Given the description of an element on the screen output the (x, y) to click on. 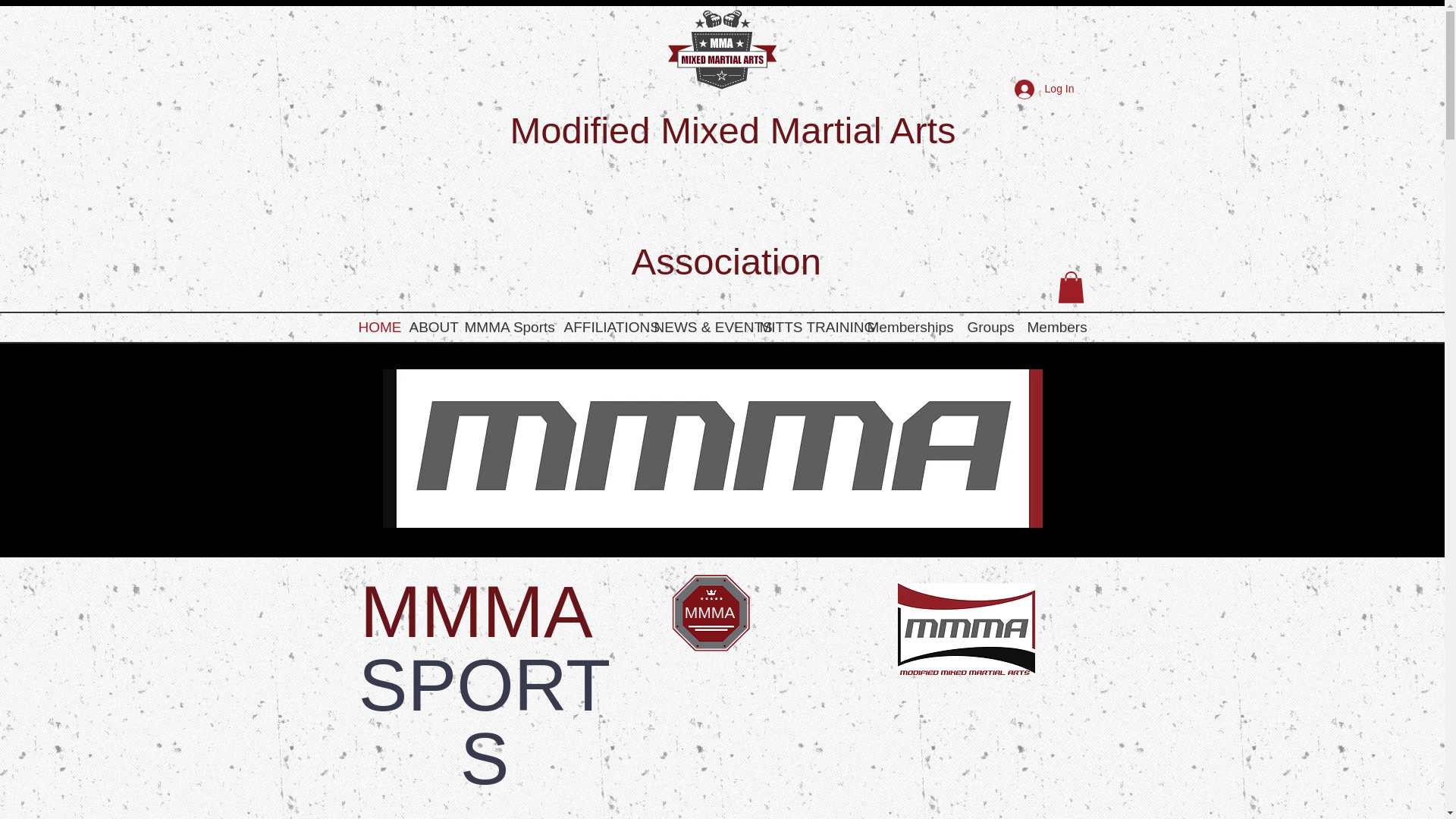
Memberships (909, 327)
logo-final2.png (721, 48)
Groups (989, 327)
Members (1056, 327)
ABOUT (429, 327)
MITTS TRAINING (806, 327)
MMMA Sports (506, 327)
Log In (1044, 89)
AFFILIATIONS (601, 327)
HOME (375, 327)
